Given the description of an element on the screen output the (x, y) to click on. 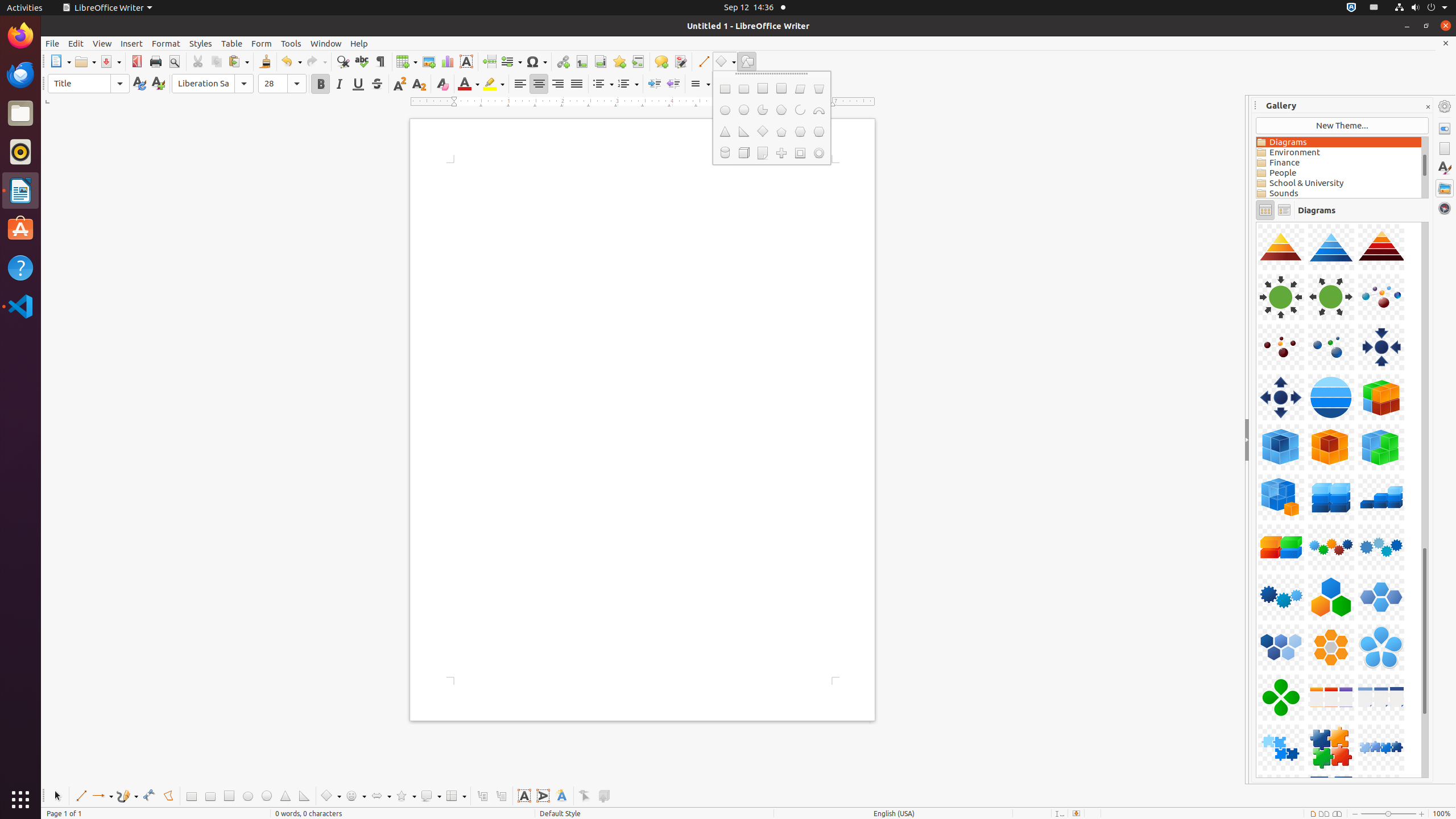
Ring Element type: toggle-button (818, 153)
Numbering Element type: push-button (627, 83)
Save Element type: push-button (109, 61)
Find & Replace Element type: toggle-button (342, 61)
Regular Pentagon Element type: toggle-button (780, 131)
